Given the description of an element on the screen output the (x, y) to click on. 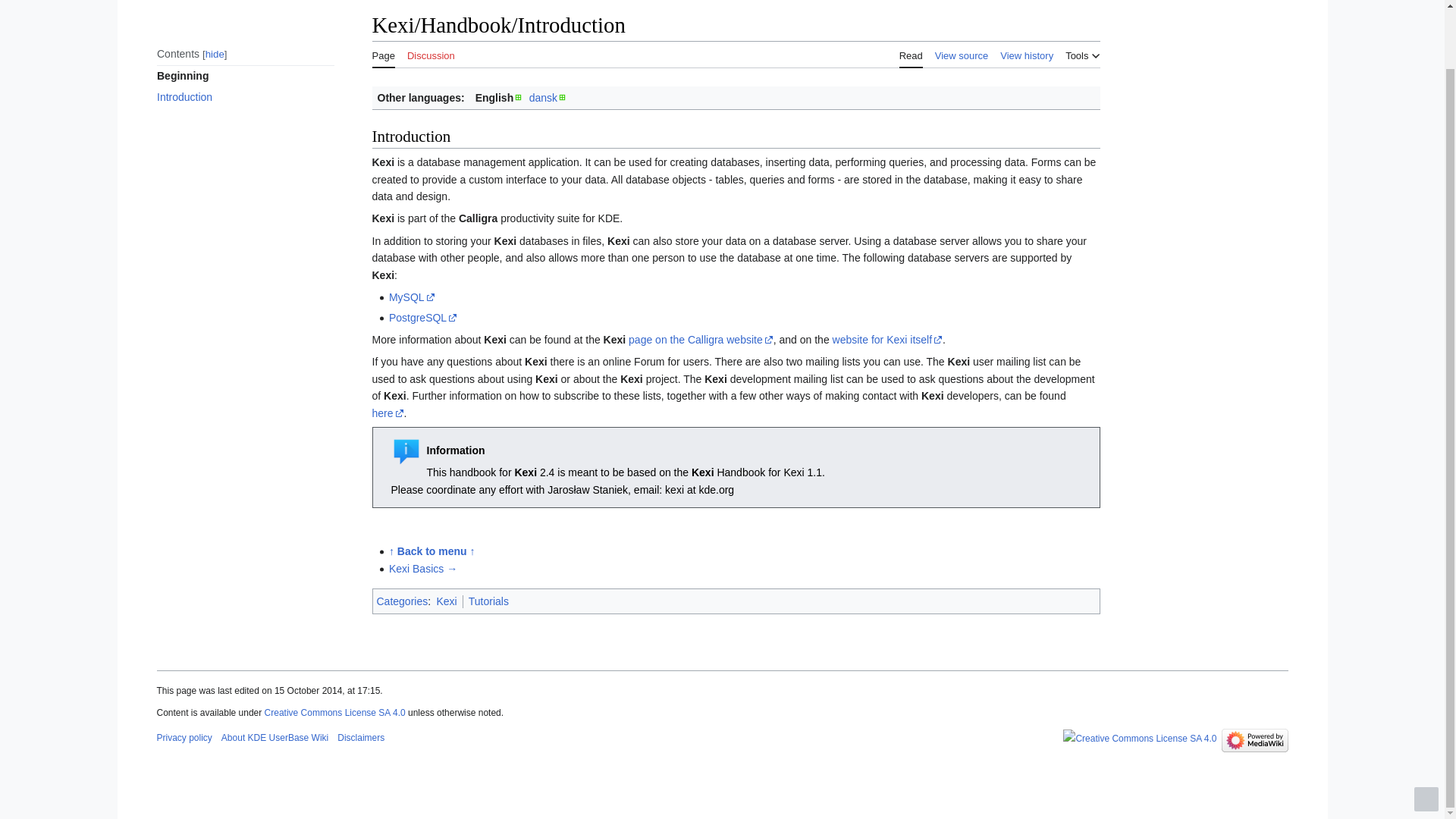
View source (961, 53)
View history (1026, 53)
hide (214, 53)
Beginning (244, 75)
Introduction (244, 96)
Discussion (430, 53)
